Given the description of an element on the screen output the (x, y) to click on. 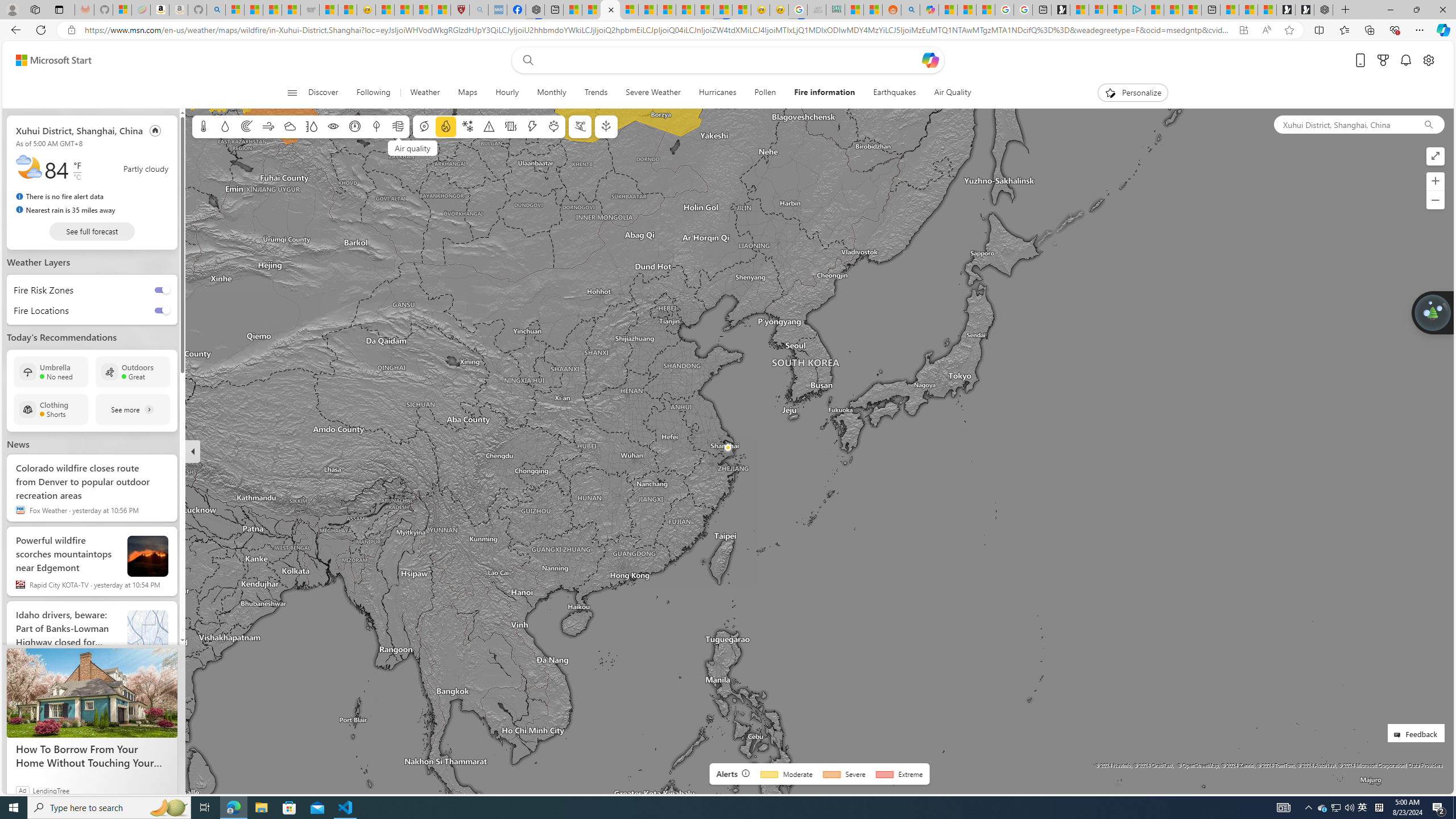
Hide (192, 450)
Zoom in (1435, 180)
Fire Locations (37, 310)
Wind (267, 126)
Radar (246, 126)
See full forecast (92, 231)
